Given the description of an element on the screen output the (x, y) to click on. 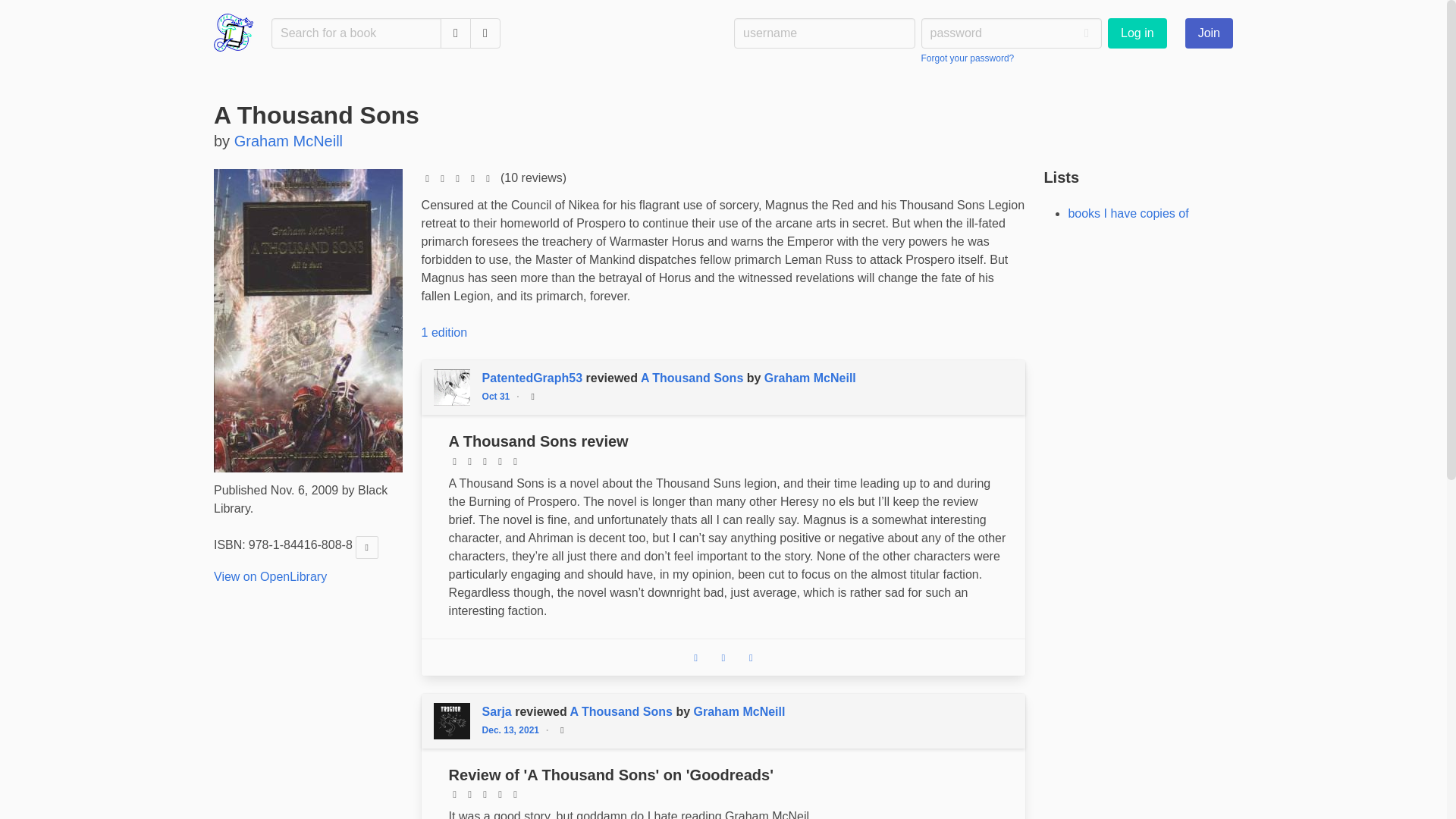
Log in (1137, 33)
A Thousand Sons (691, 377)
Graham McNeill (810, 377)
Copy ISBN (366, 547)
Public (532, 396)
Boost status (723, 657)
Scan Barcode (485, 33)
Forgot your password? (967, 58)
A Thousand Sons (621, 711)
Search (455, 33)
Search (455, 33)
Graham McNeill (288, 140)
PatentedGraph53 (533, 377)
Graham McNeill (738, 711)
1 edition (444, 332)
